Given the description of an element on the screen output the (x, y) to click on. 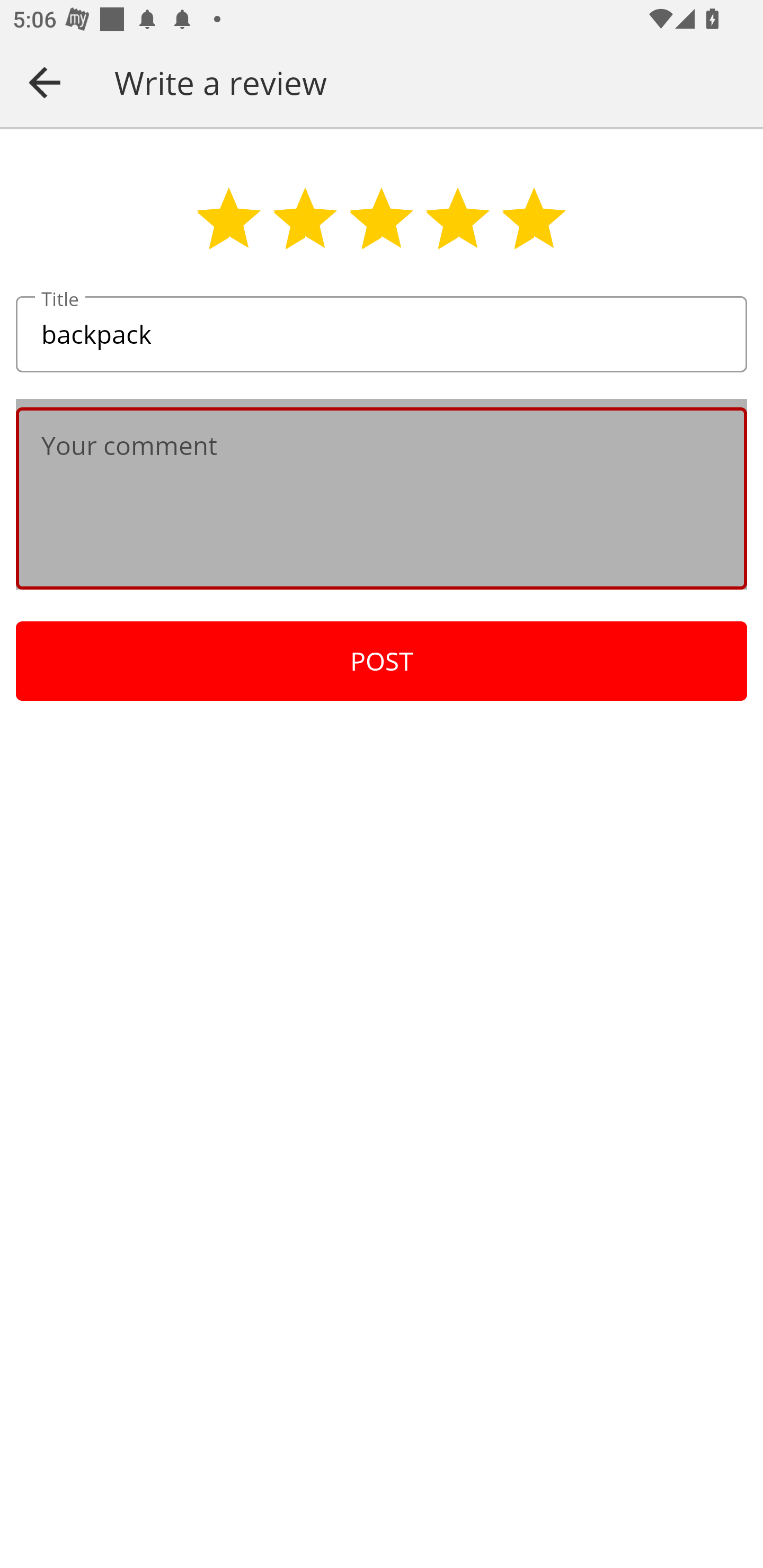
Navigate up (44, 82)
backpack (381, 334)
Your comment (381, 498)
POST (381, 660)
